Given the description of an element on the screen output the (x, y) to click on. 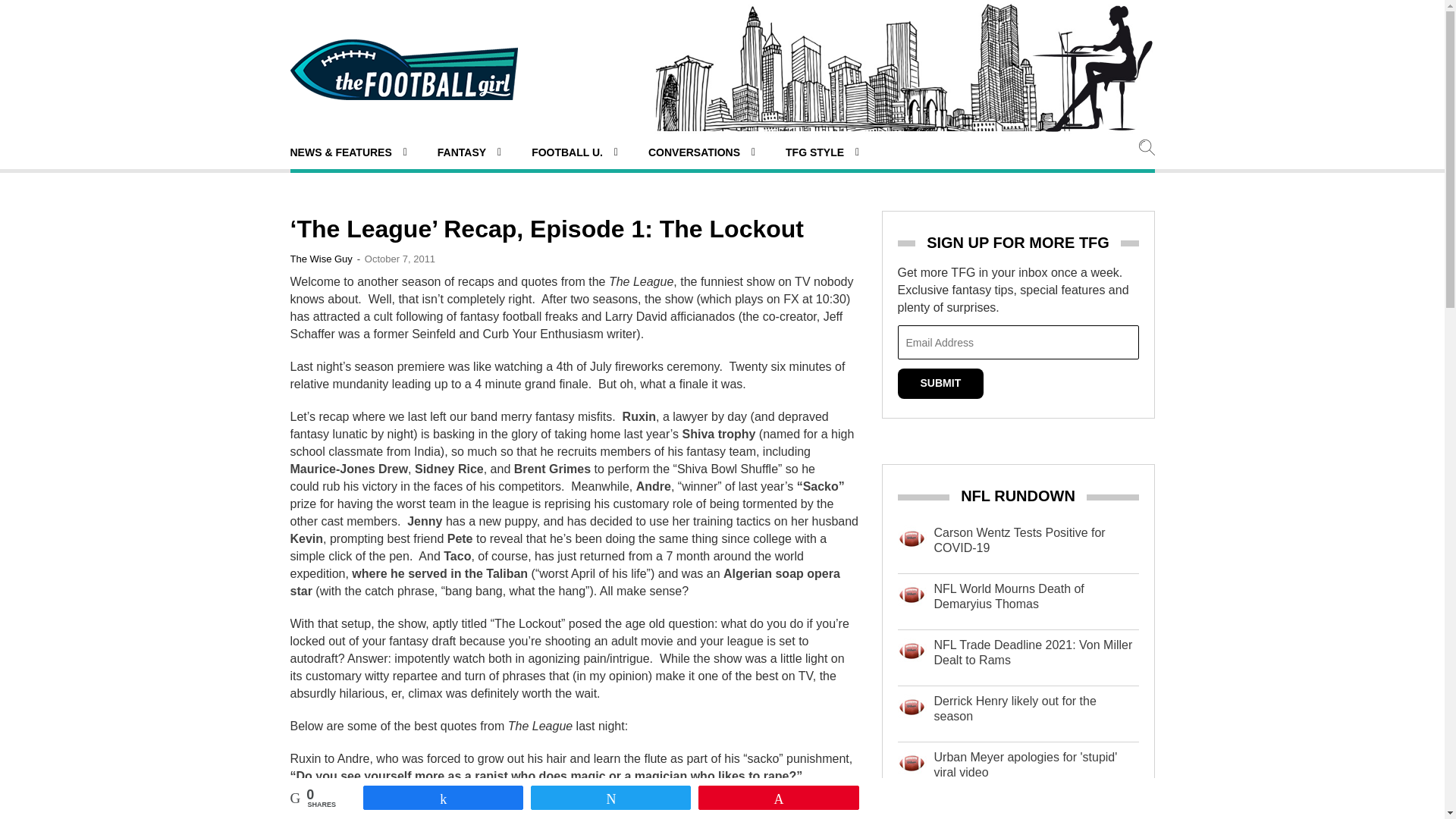
TFG STYLE (822, 152)
FOOTBALL U. (574, 152)
CONVERSATIONS (701, 152)
FANTASY (469, 152)
The Wise Guy (320, 258)
